Given the description of an element on the screen output the (x, y) to click on. 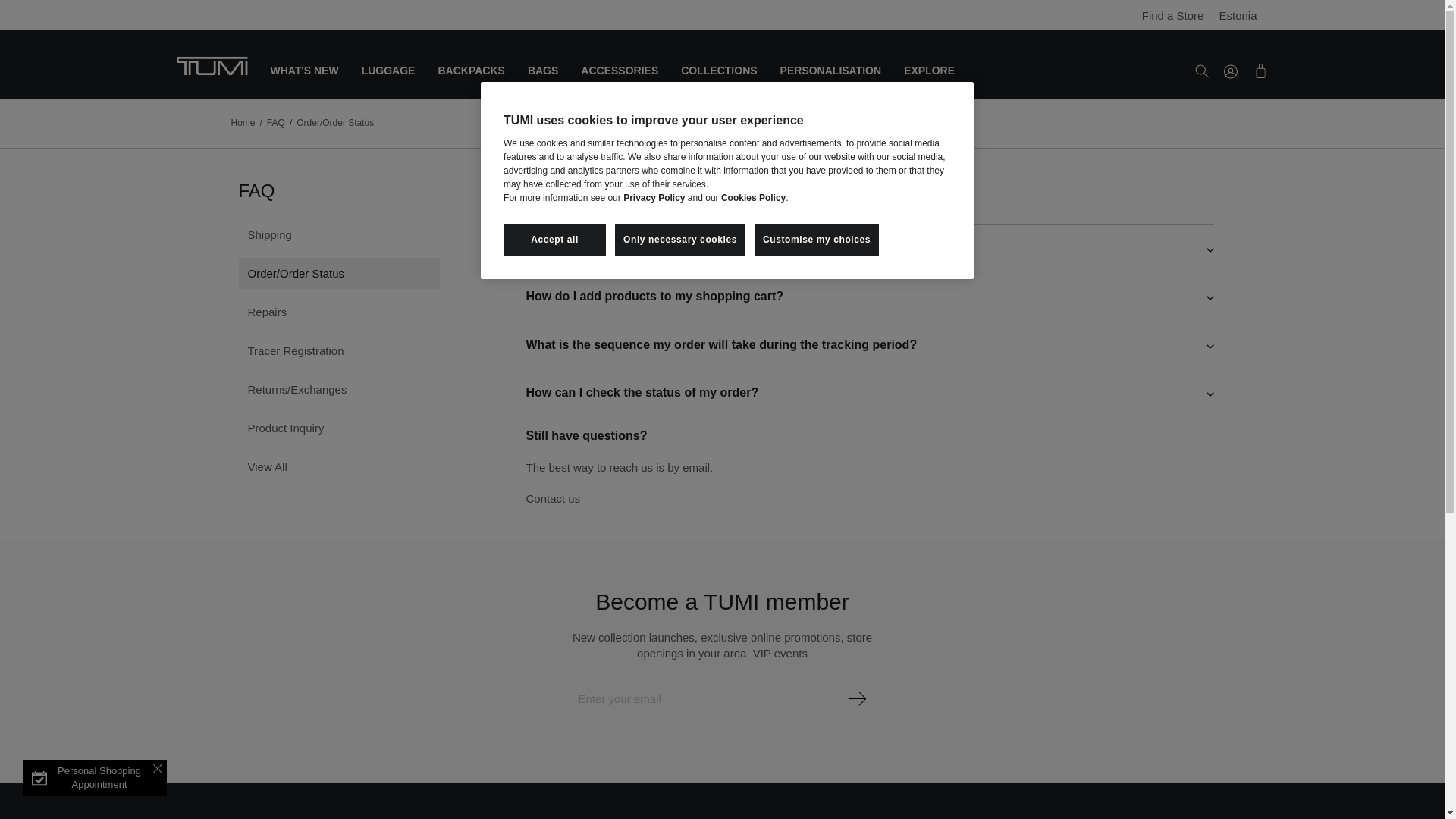
LUGGAGE (387, 81)
WHAT'S NEW (303, 81)
BACKPACKS (470, 81)
Find a Store (1164, 15)
Find a Store (1131, 15)
